Given the description of an element on the screen output the (x, y) to click on. 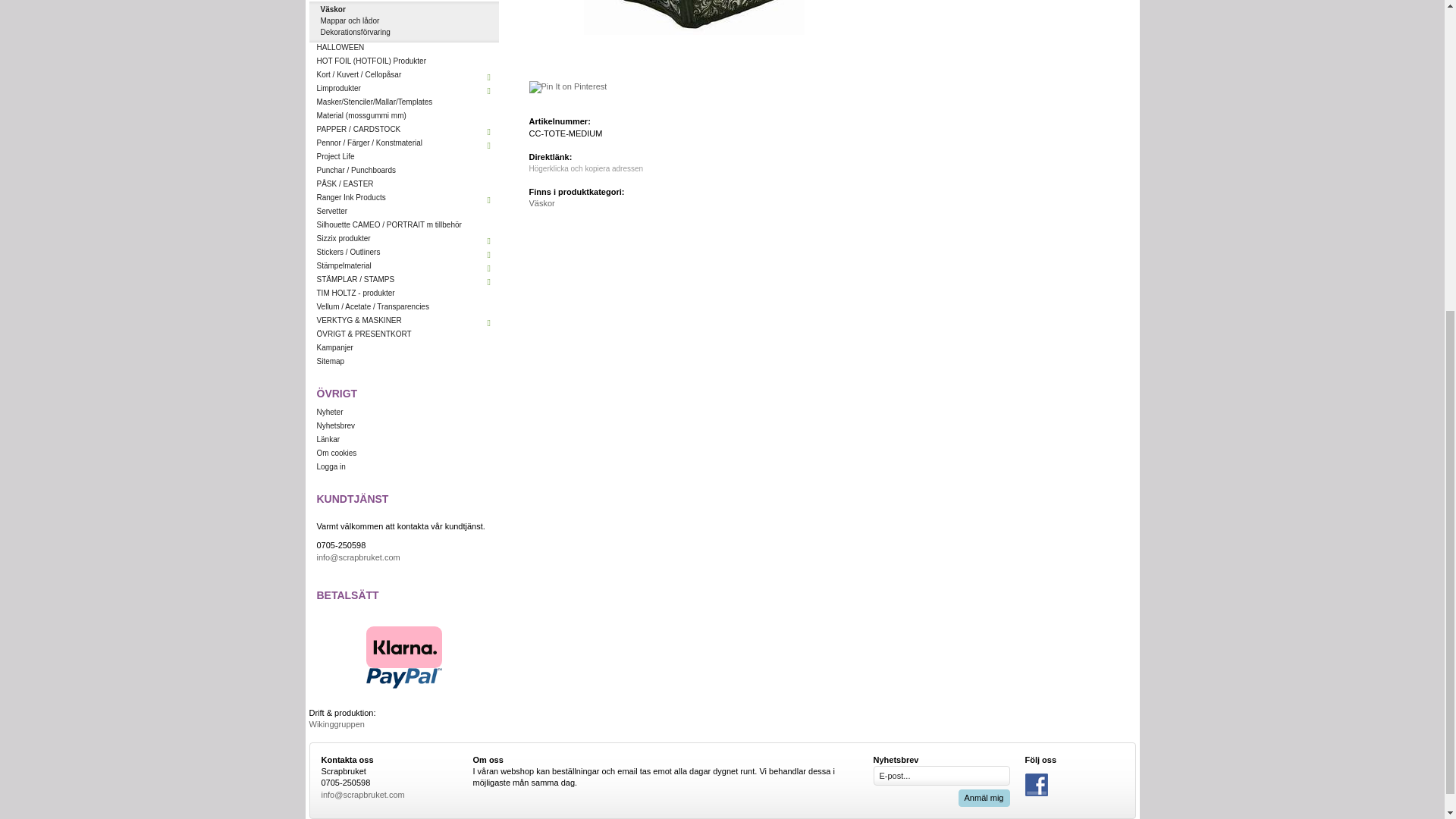
E-post... (941, 775)
